Given the description of an element on the screen output the (x, y) to click on. 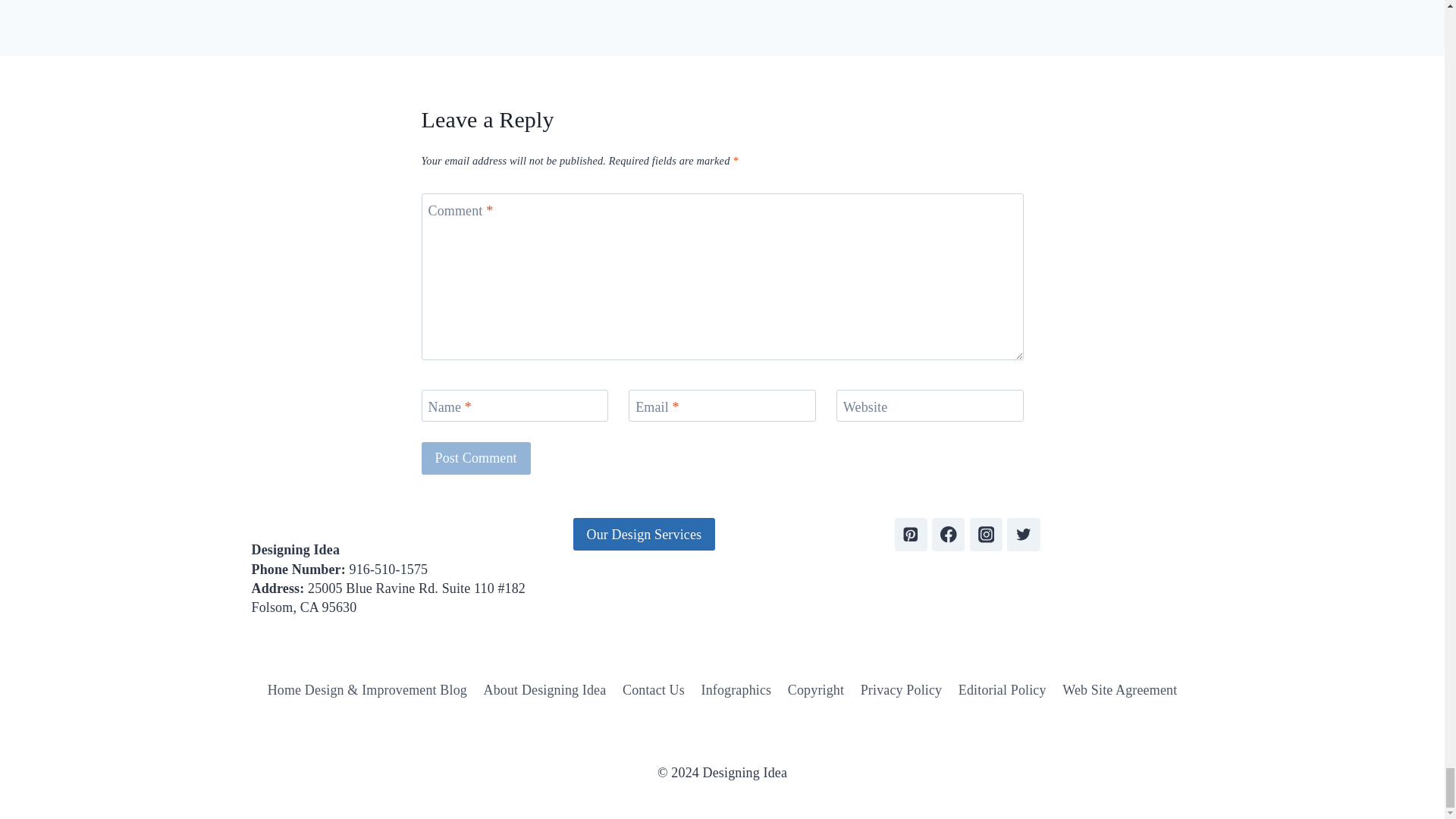
Post Comment (476, 458)
